Given the description of an element on the screen output the (x, y) to click on. 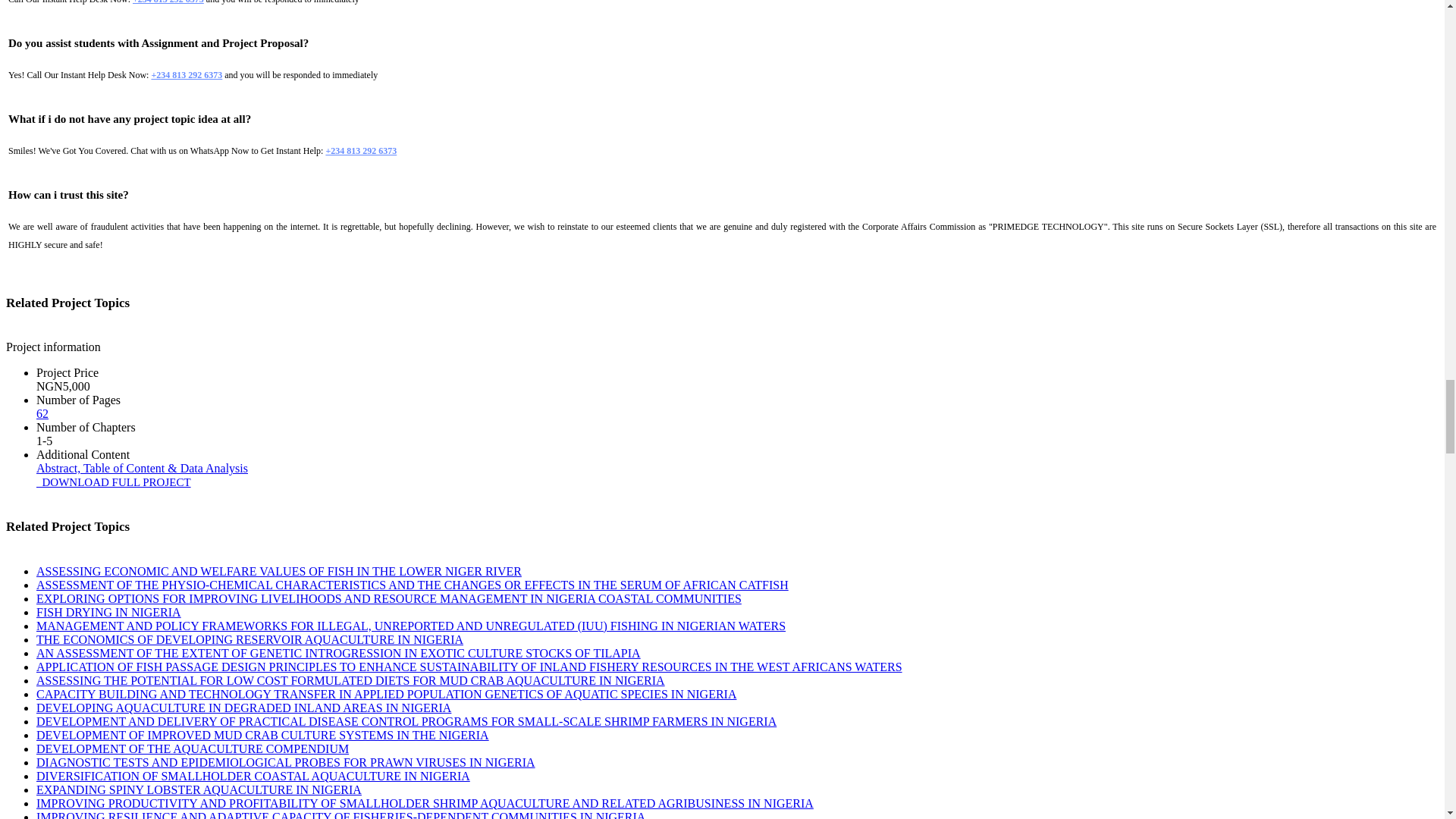
DEVELOPING AQUACULTURE IN DEGRADED INLAND AREAS IN NIGERIA (243, 707)
EXPANDING SPINY LOBSTER AQUACULTURE IN NIGERIA (198, 789)
